Given the description of an element on the screen output the (x, y) to click on. 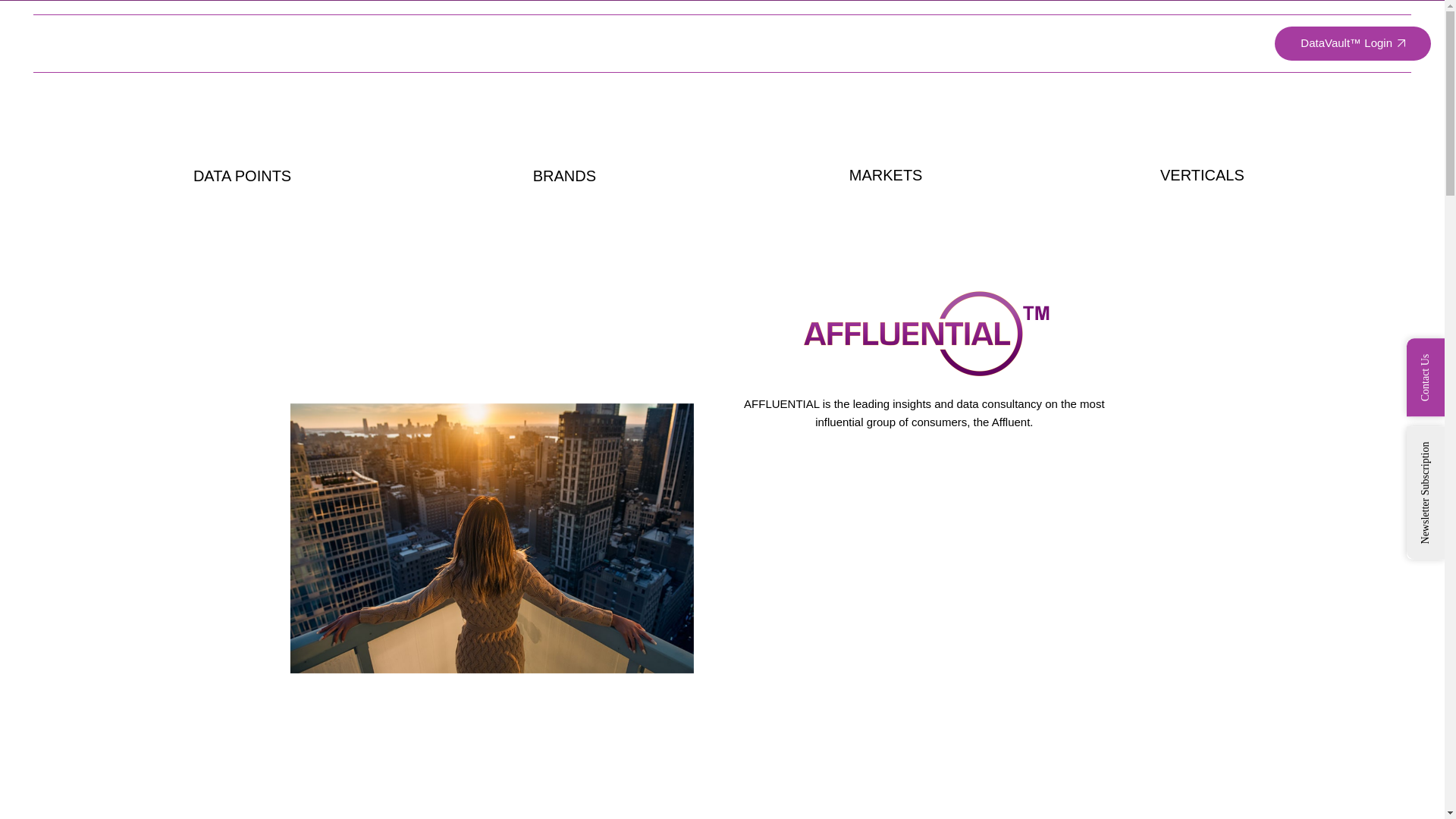
Contact Us (1208, 42)
Knowledge Center (1106, 42)
About Us (748, 42)
Our Expertise (842, 42)
Industries and Sectors (971, 42)
